Given the description of an element on the screen output the (x, y) to click on. 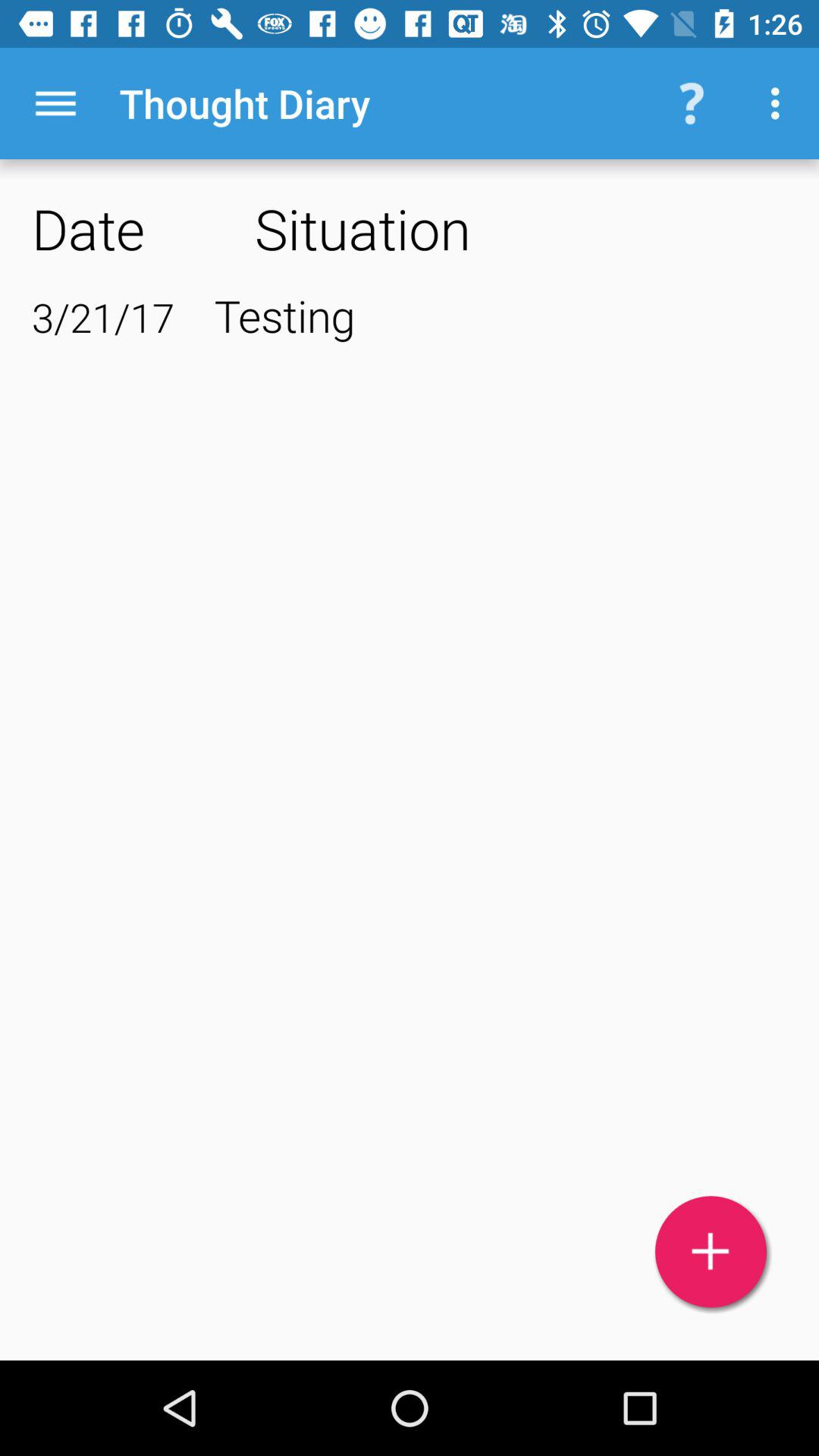
launch the 3/21/17 item (102, 316)
